Given the description of an element on the screen output the (x, y) to click on. 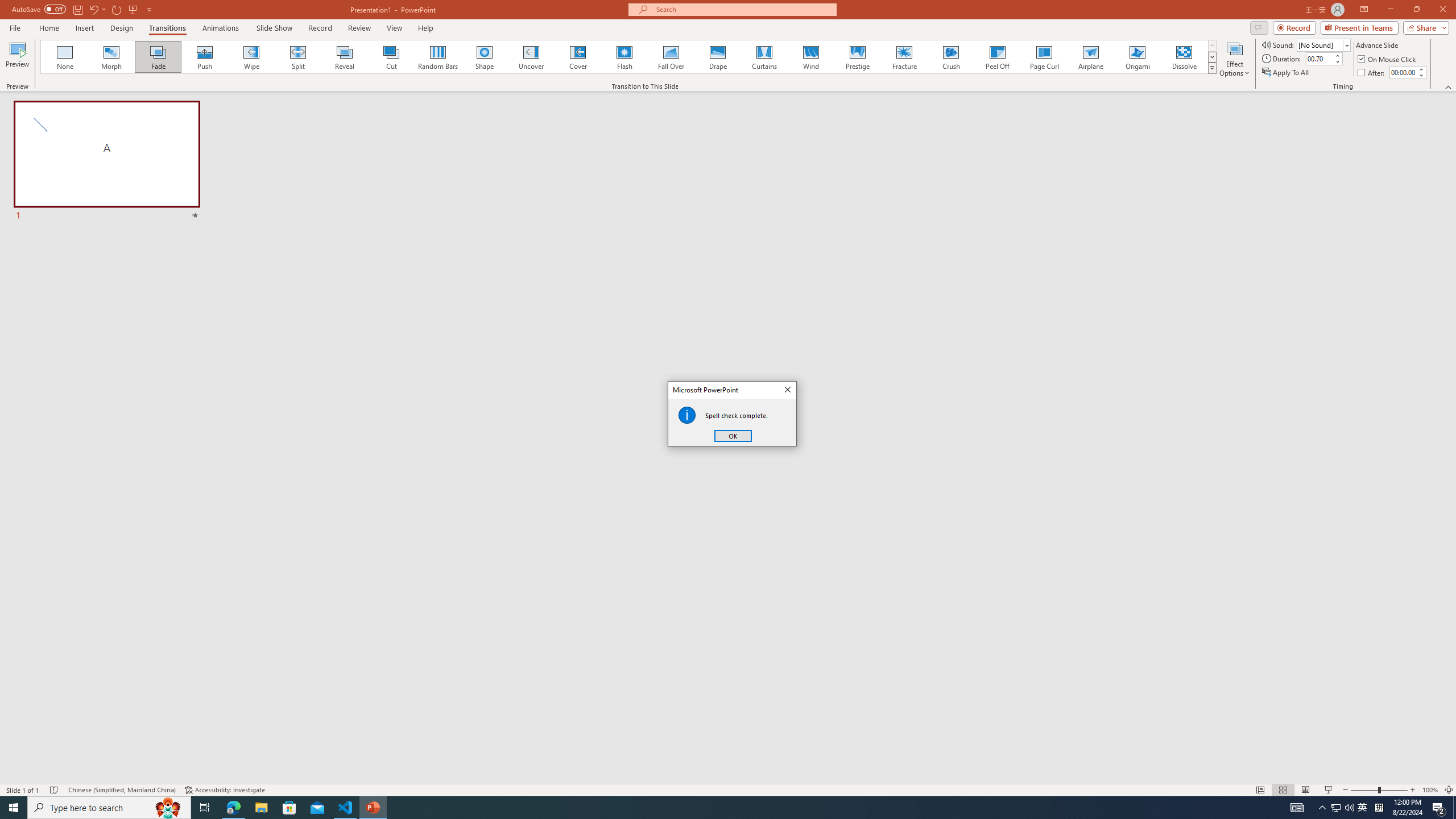
AutomationID: AnimationTransitionGallery (628, 56)
Uncover (531, 56)
Morph (111, 56)
Reveal (344, 56)
Class: Static (686, 415)
